Given the description of an element on the screen output the (x, y) to click on. 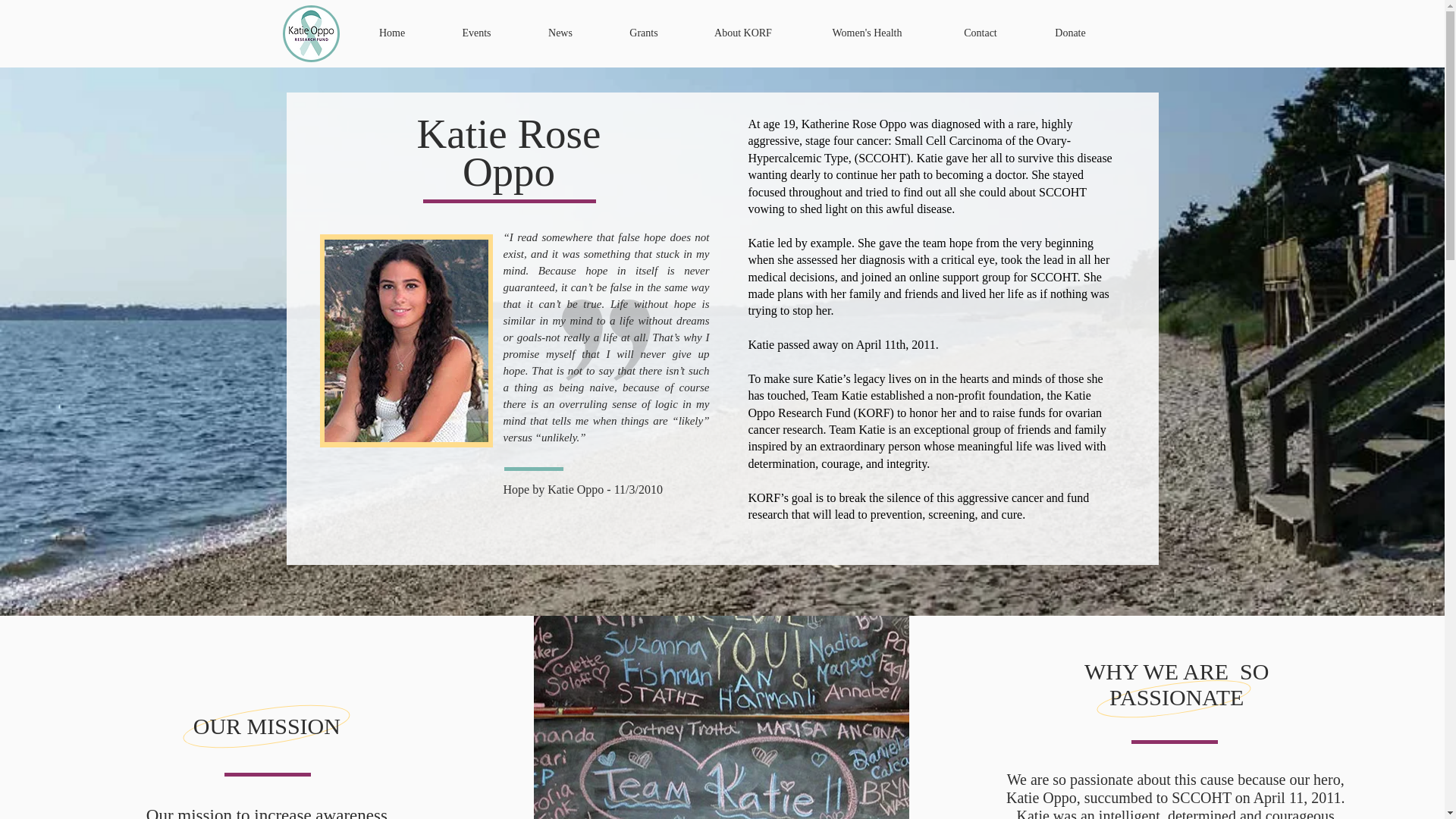
Home (391, 33)
Contact (980, 33)
Women's Health (866, 33)
News (560, 33)
Donate (1070, 33)
Grants (642, 33)
